Given the description of an element on the screen output the (x, y) to click on. 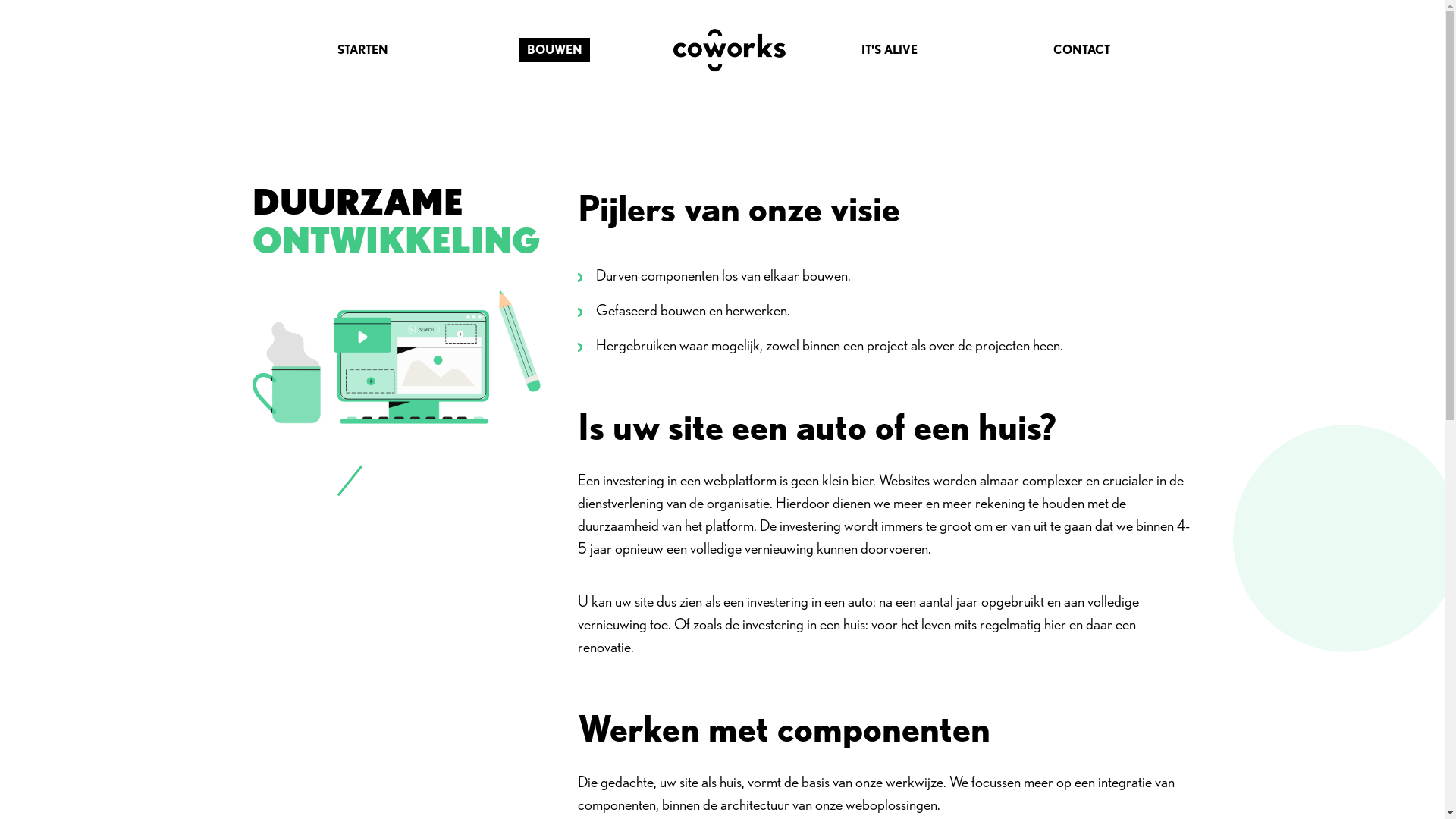
Skip to main content Element type: text (0, 0)
STARTEN Element type: text (362, 49)
BOUWEN Element type: text (554, 49)
IT'S ALIVE Element type: text (889, 49)
CONTACT Element type: text (1081, 49)
COWORKS Element type: text (721, 49)
